Given the description of an element on the screen output the (x, y) to click on. 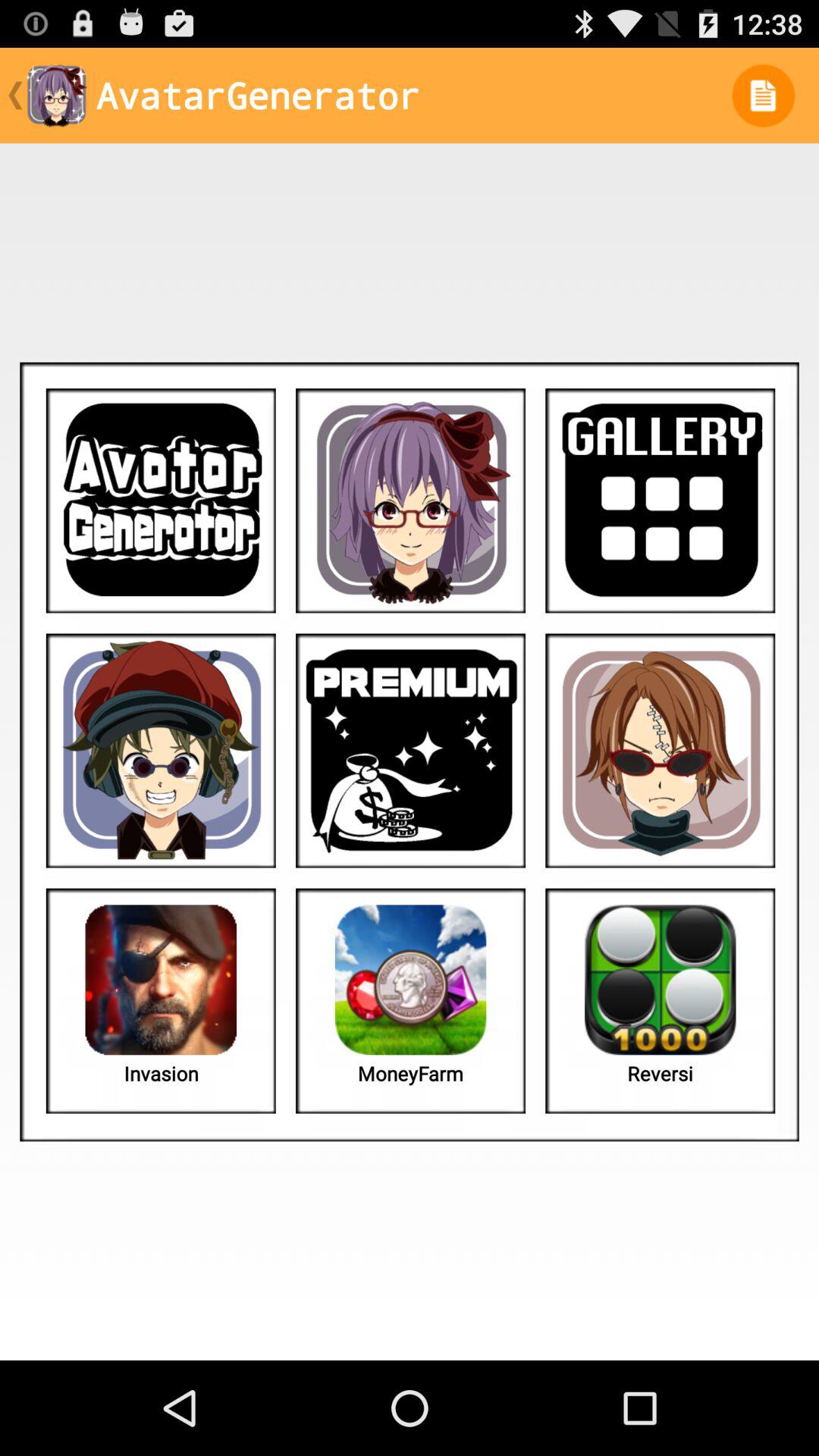
open avator generator (160, 500)
